Given the description of an element on the screen output the (x, y) to click on. 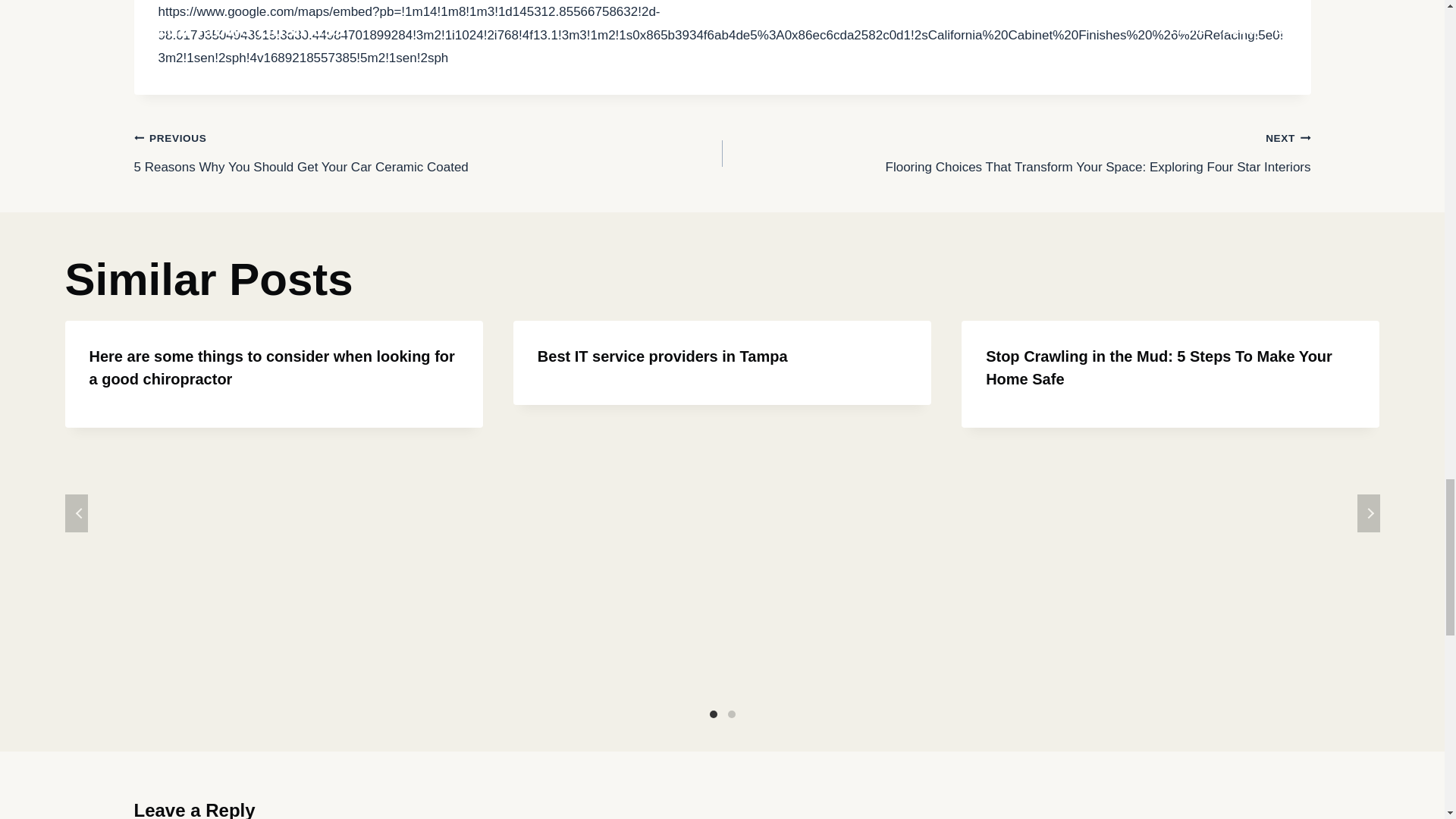
Best IT service providers in Tampa (662, 356)
Stop Crawling in the Mud: 5 Steps To Make Your Home Safe (1158, 367)
